Given the description of an element on the screen output the (x, y) to click on. 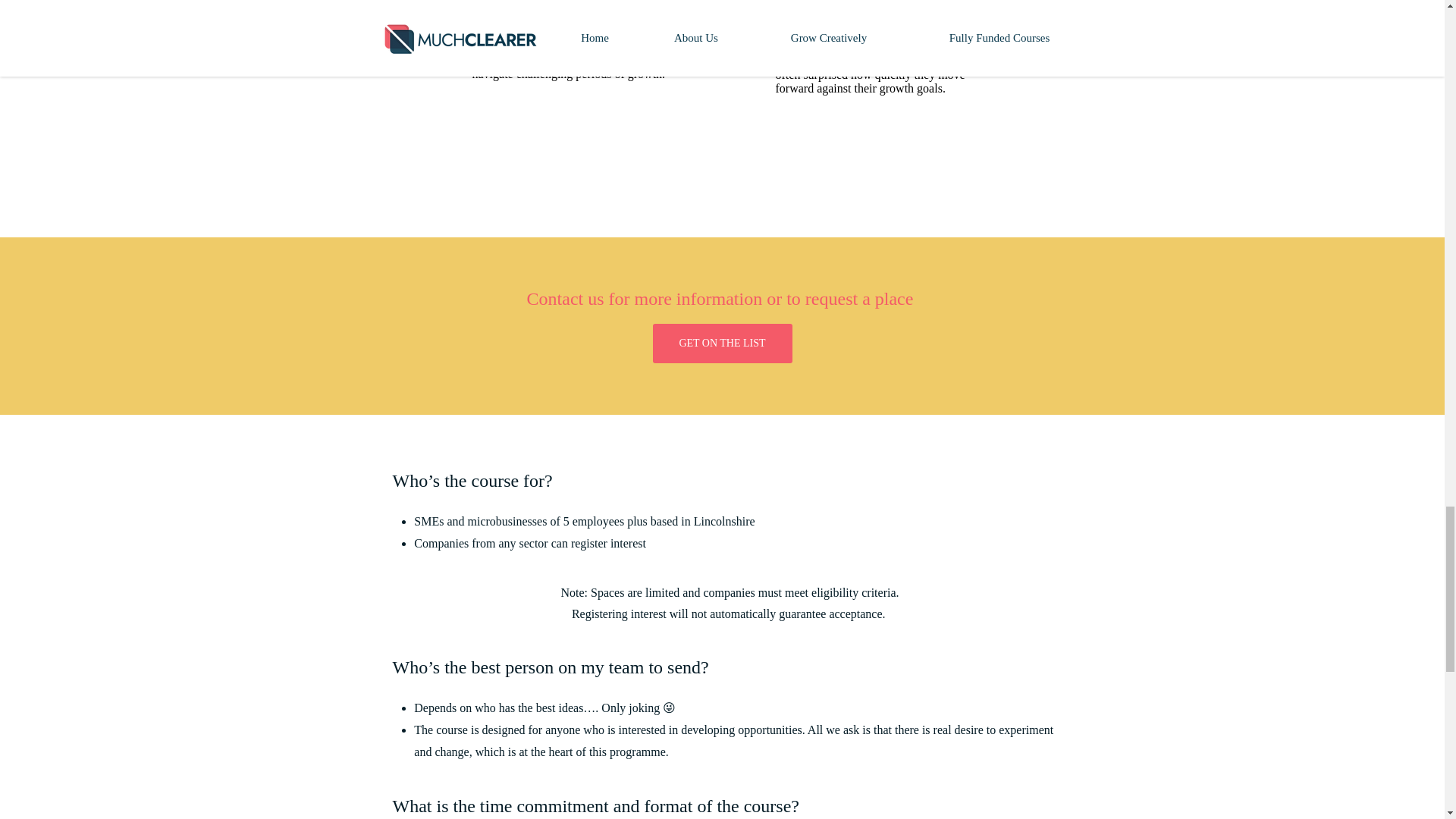
GET ON THE LIST (722, 343)
CONTACT US (720, 18)
